Given the description of an element on the screen output the (x, y) to click on. 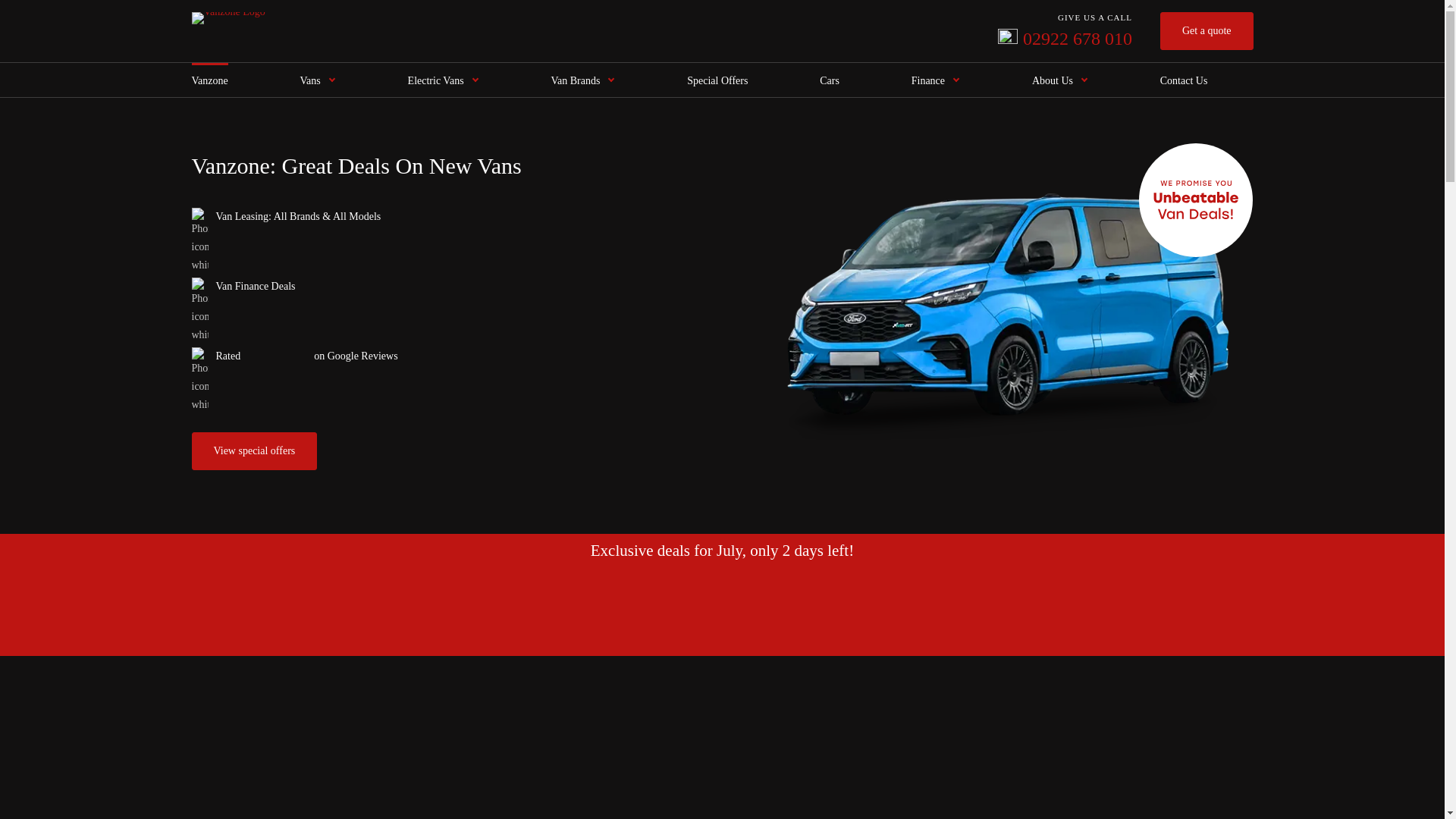
Get a quote (1206, 30)
02922 678 010 (443, 80)
Vanzone (317, 80)
